Given the description of an element on the screen output the (x, y) to click on. 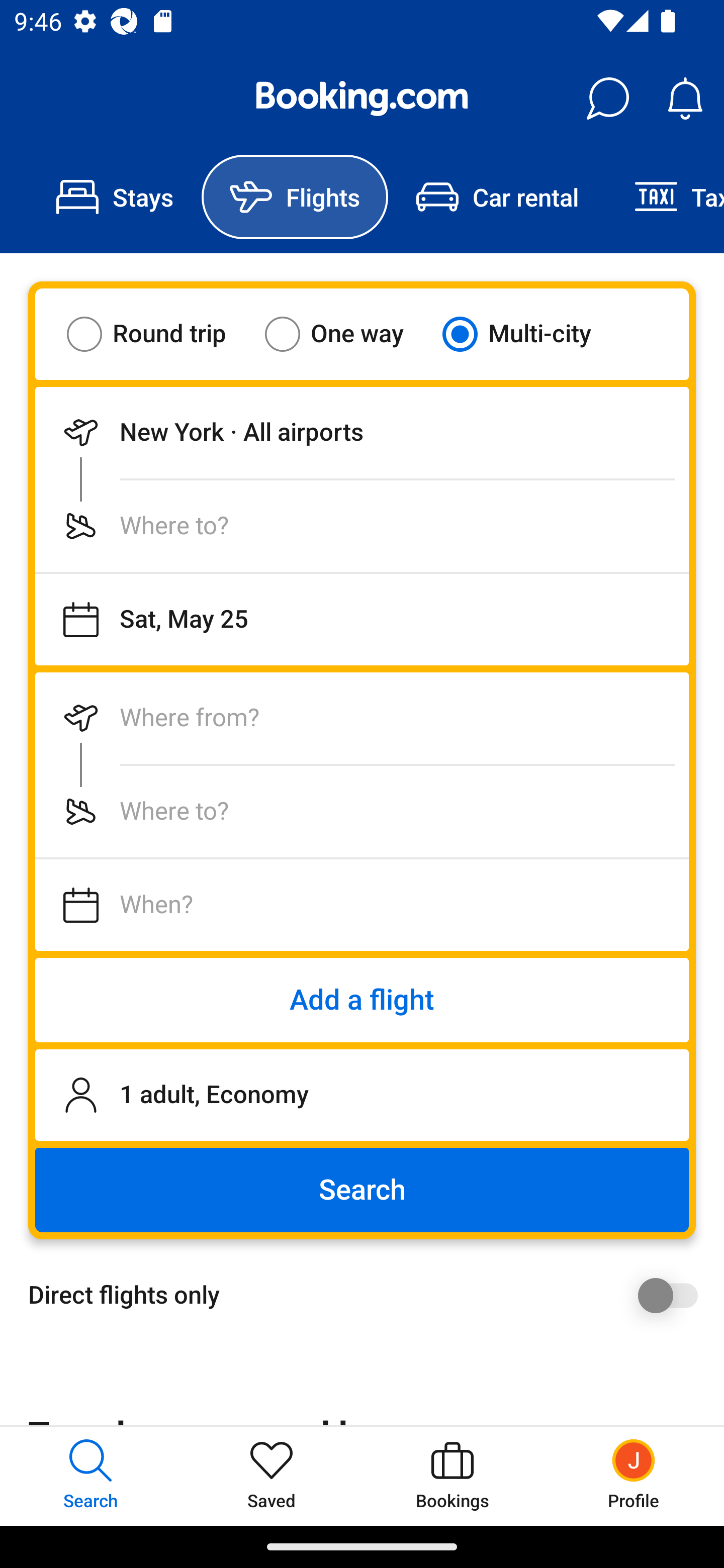
Messages (607, 98)
Notifications (685, 98)
Stays (114, 197)
Flights (294, 197)
Car rental (497, 197)
Taxi (665, 197)
Round trip (158, 333)
One way (346, 333)
Flight 1, departing from New York · All airports (361, 432)
Flight 1, flying to  (361, 525)
Flight 1 departing on Sat, May 25 (361, 618)
Flight 2, departing from  (361, 717)
Flight 2, flying to  (361, 811)
Flight 2 departing on Sat, May 25 (361, 904)
Add a flight (361, 1000)
1 adult, Economy (361, 1094)
Search (361, 1189)
Direct flights only (369, 1294)
Saved (271, 1475)
Bookings (452, 1475)
Profile (633, 1475)
